Given the description of an element on the screen output the (x, y) to click on. 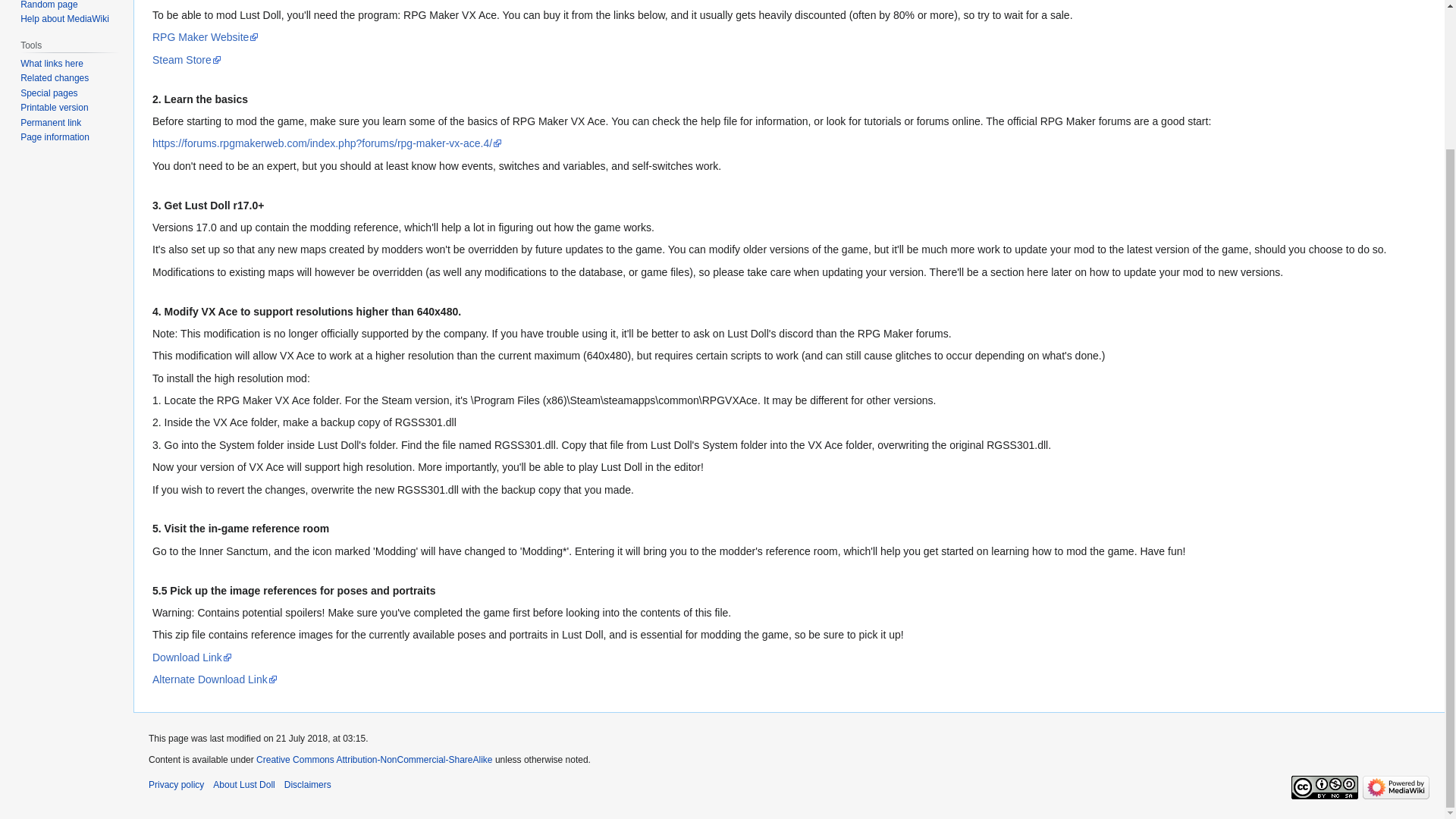
RPG Maker Website (205, 37)
Permanent link to this revision of the page (50, 122)
Creative Commons Attribution-NonCommercial-ShareAlike (374, 759)
About Lust Doll (243, 784)
Download Link (191, 657)
Special pages (48, 92)
Page information (54, 136)
Printable version (53, 107)
More information about this page (54, 136)
Permanent link (50, 122)
